Given the description of an element on the screen output the (x, y) to click on. 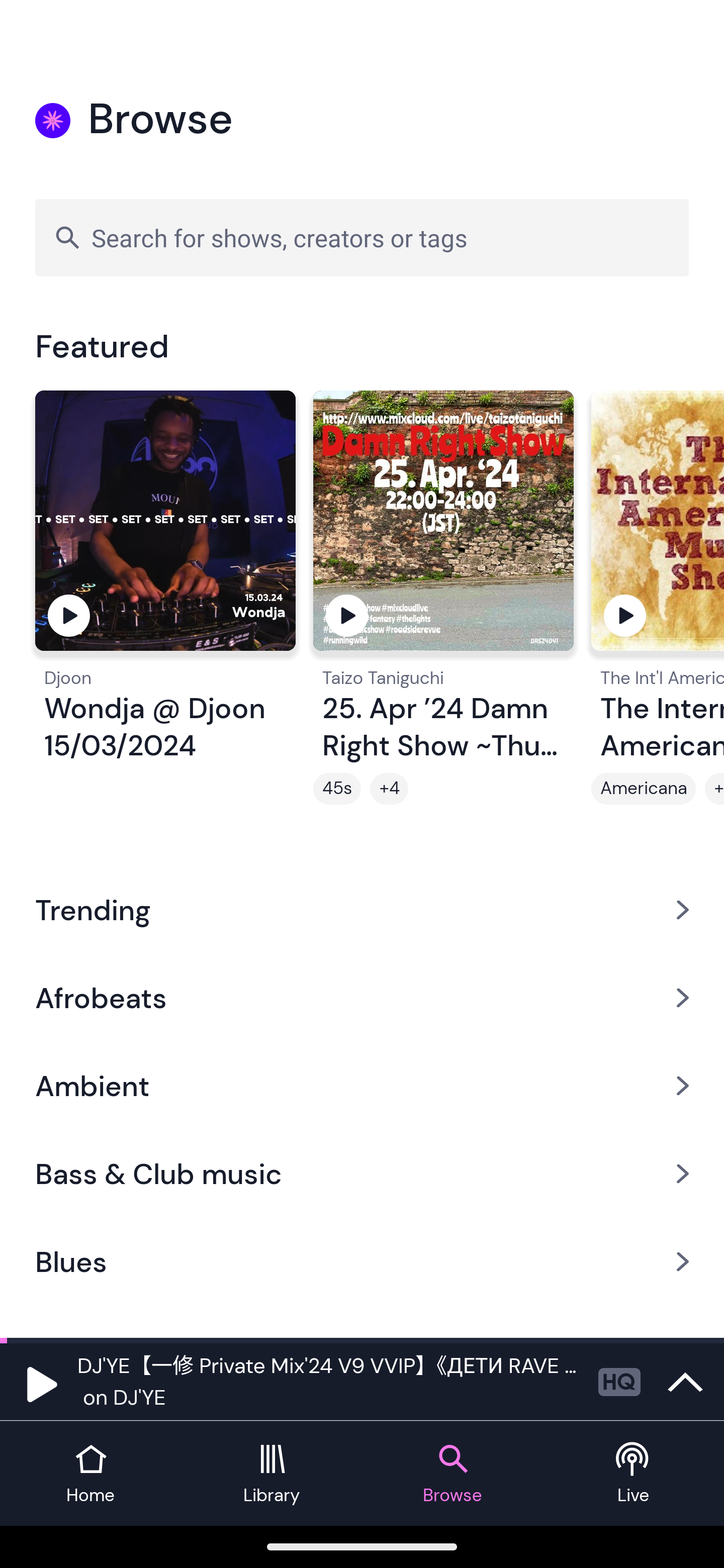
Search for shows, creators or tags (361, 237)
45s (337, 788)
Americana (643, 788)
Trending (361, 909)
Afrobeats (361, 997)
Ambient (361, 1085)
Bass & Club music (361, 1174)
Blues (361, 1262)
Home tab Home (90, 1473)
Library tab Library (271, 1473)
Browse tab Browse (452, 1473)
Live tab Live (633, 1473)
